Given the description of an element on the screen output the (x, y) to click on. 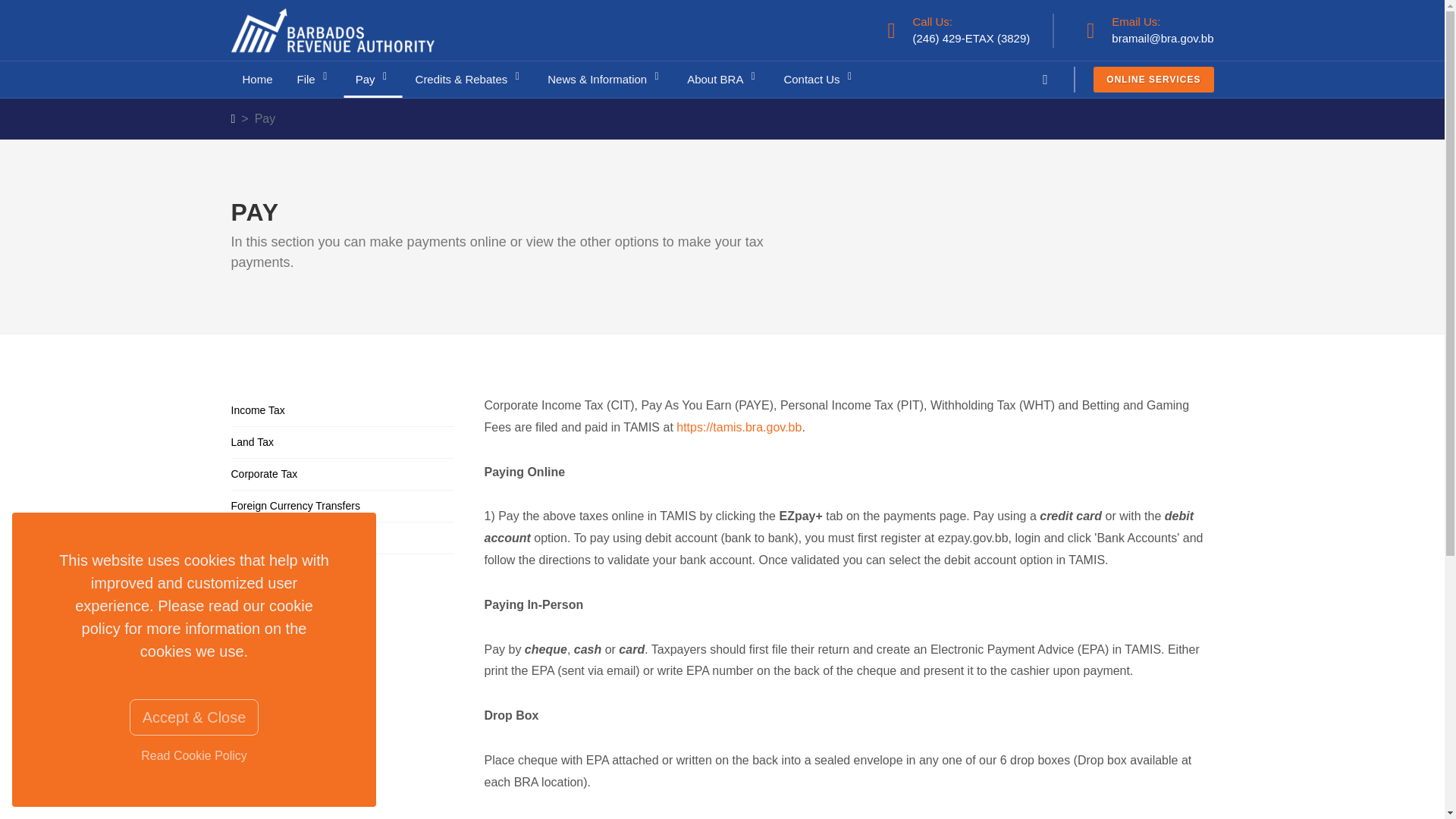
ONLINE SERVICES (1152, 79)
About BRA (722, 79)
Home (256, 79)
Pay (373, 79)
Read Cookie Policy (194, 756)
File (313, 79)
